Given the description of an element on the screen output the (x, y) to click on. 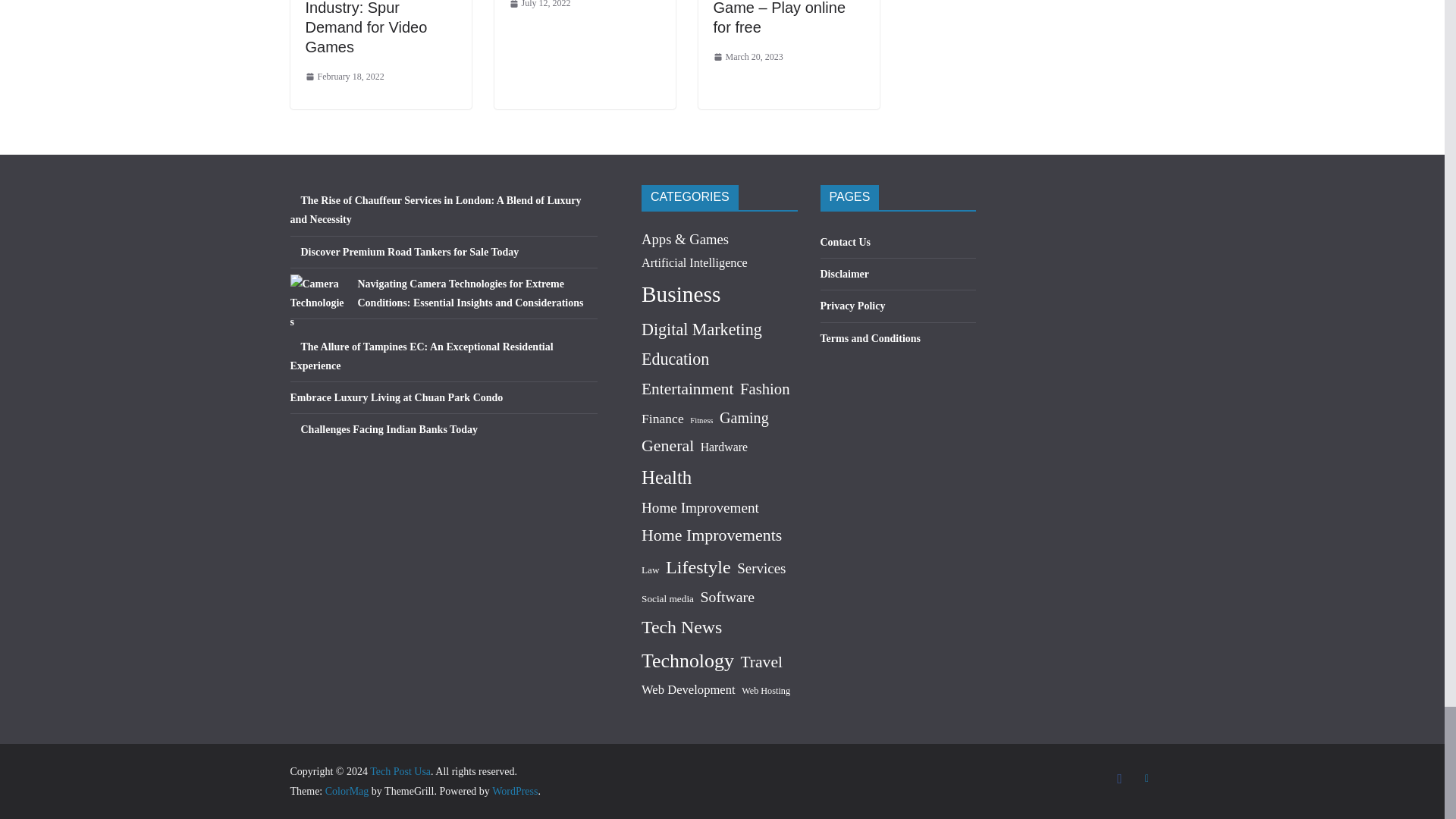
Future of Gaming Industry: Spur Demand for Video Games  (365, 27)
February 18, 2022 (344, 76)
12:05 PM (539, 6)
5:49 PM (344, 76)
July 12, 2022 (539, 6)
